Given the description of an element on the screen output the (x, y) to click on. 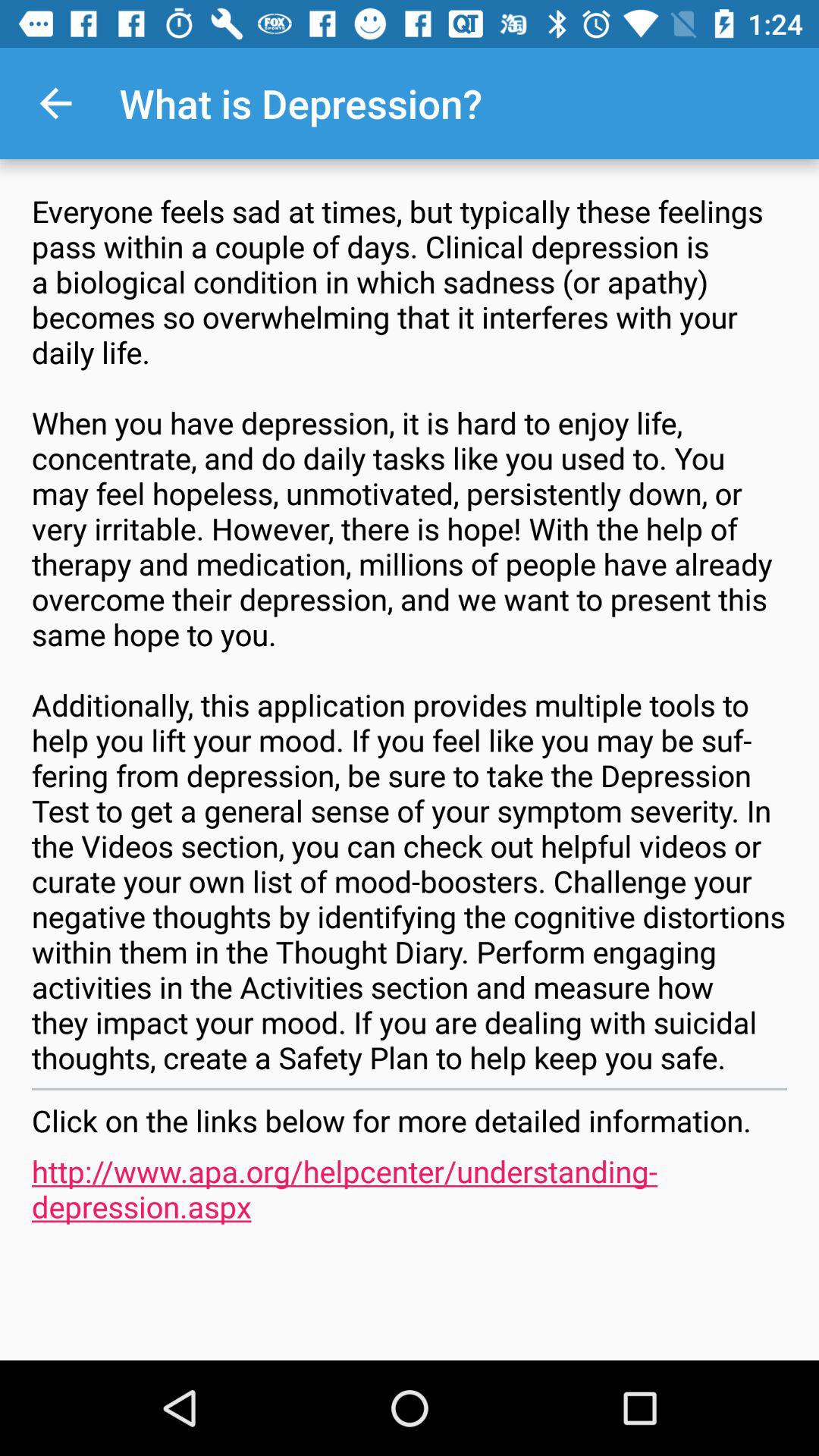
open item at the top left corner (55, 103)
